Given the description of an element on the screen output the (x, y) to click on. 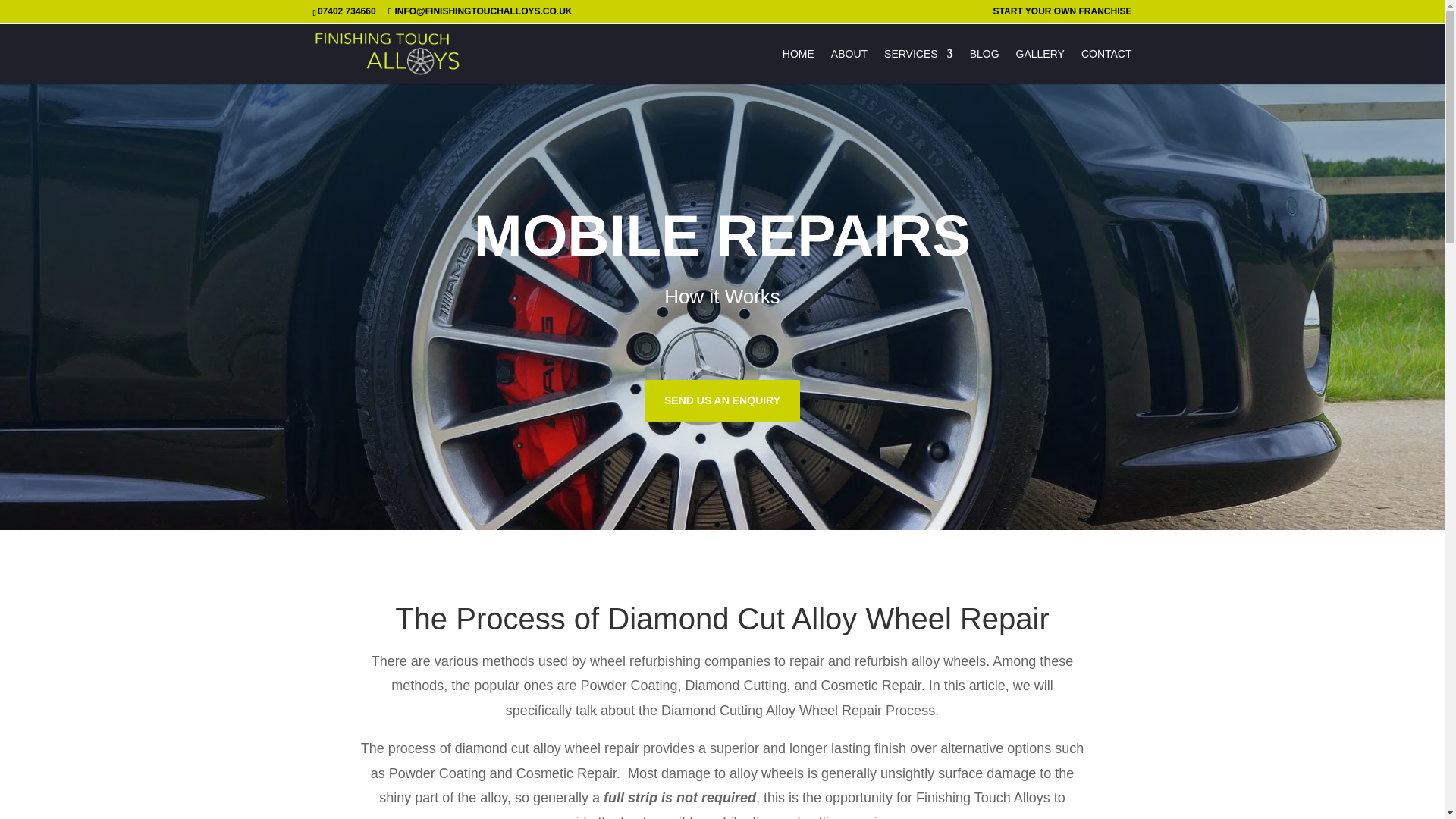
START YOUR OWN FRANCHISE (1062, 14)
ABOUT (849, 66)
GALLERY (1040, 66)
SEND US AN ENQUIRY (722, 401)
CONTACT (1106, 66)
SERVICES (918, 66)
HOME (798, 66)
